Given the description of an element on the screen output the (x, y) to click on. 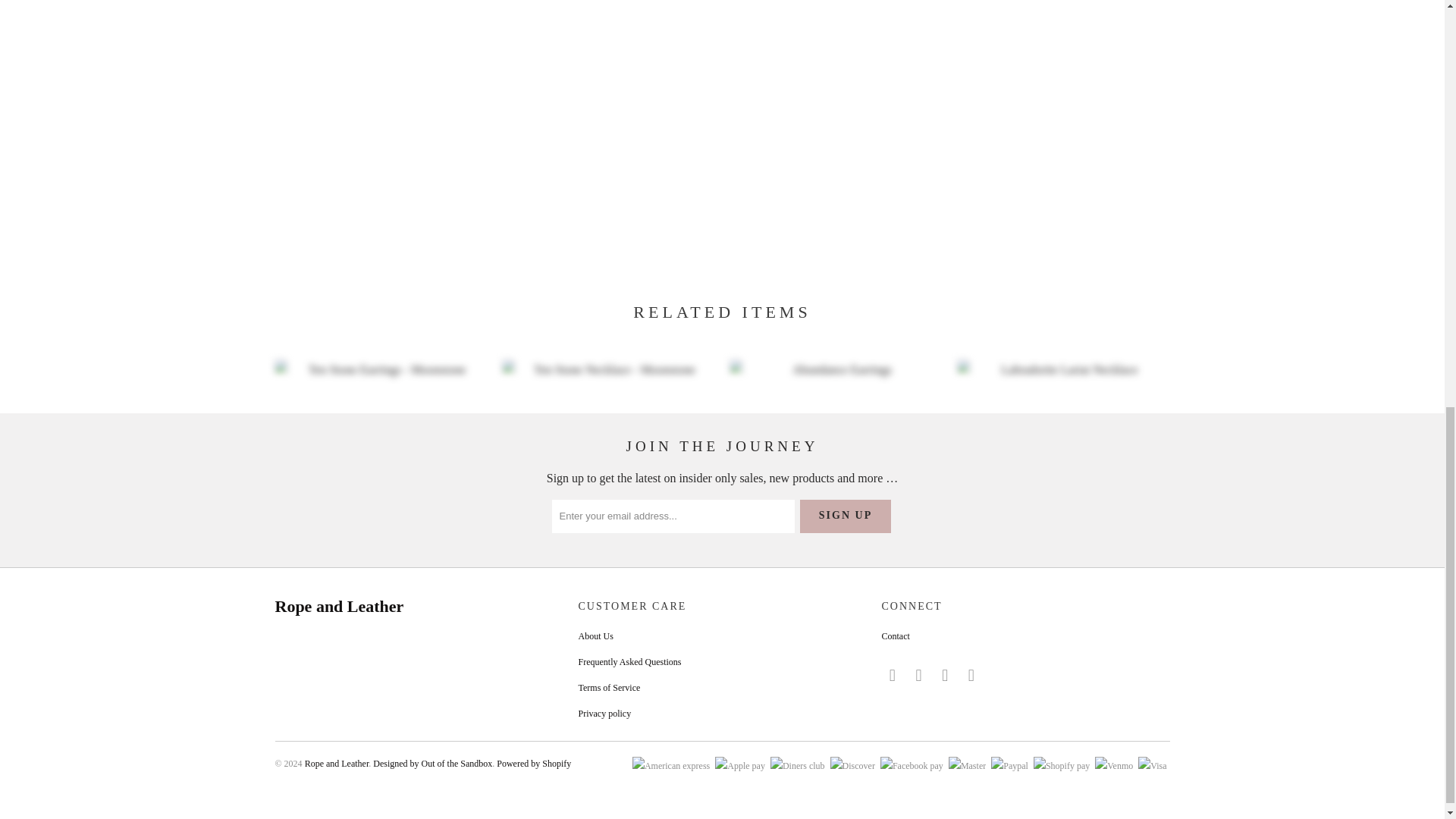
Rope and Leather on Instagram (945, 675)
Rope and Leather on Pinterest (918, 675)
Email Rope and Leather (972, 675)
Sign Up (845, 516)
Rope and Leather on Facebook (892, 675)
